Given the description of an element on the screen output the (x, y) to click on. 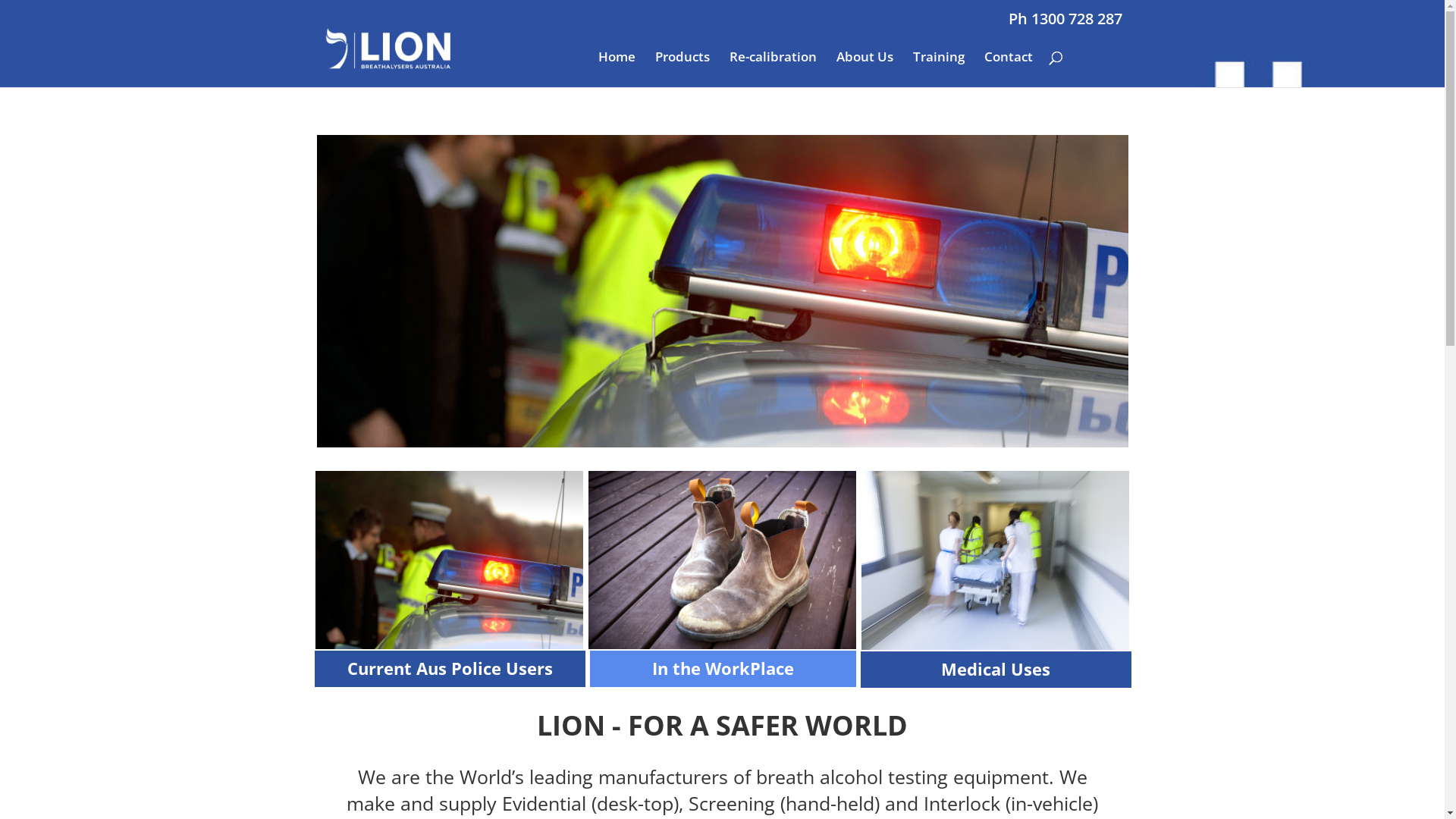
Re-calibration Element type: text (772, 69)
Products Element type: text (682, 69)
Contact Element type: text (1008, 69)
In the WorkPlace Element type: text (722, 667)
Home Element type: text (615, 69)
About Us Element type: text (863, 69)
Training Element type: text (938, 69)
Current Aus Police Users Element type: text (449, 667)
Medical Uses Element type: text (995, 668)
